Given the description of an element on the screen output the (x, y) to click on. 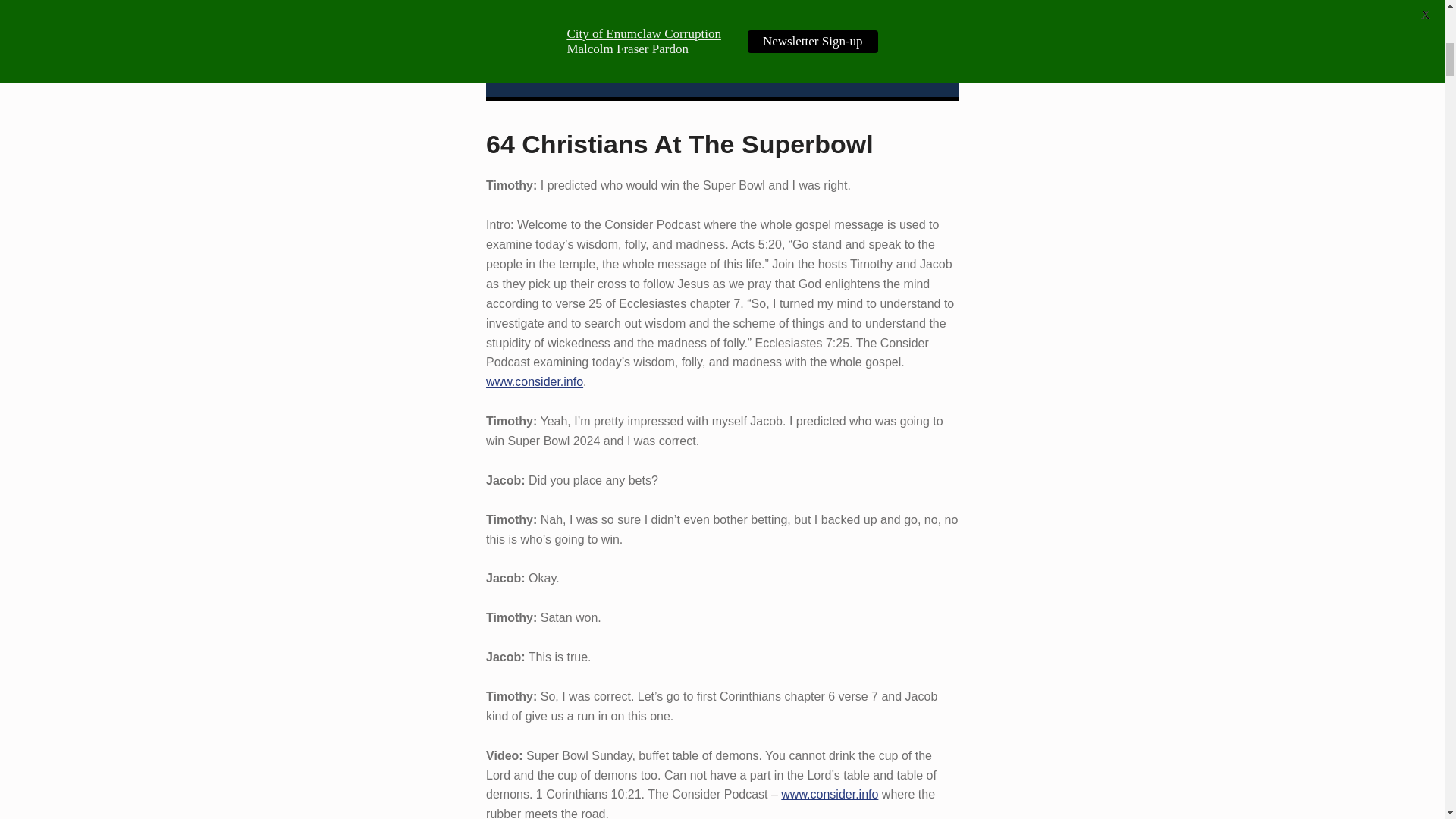
Video Player (722, 50)
